Given the description of an element on the screen output the (x, y) to click on. 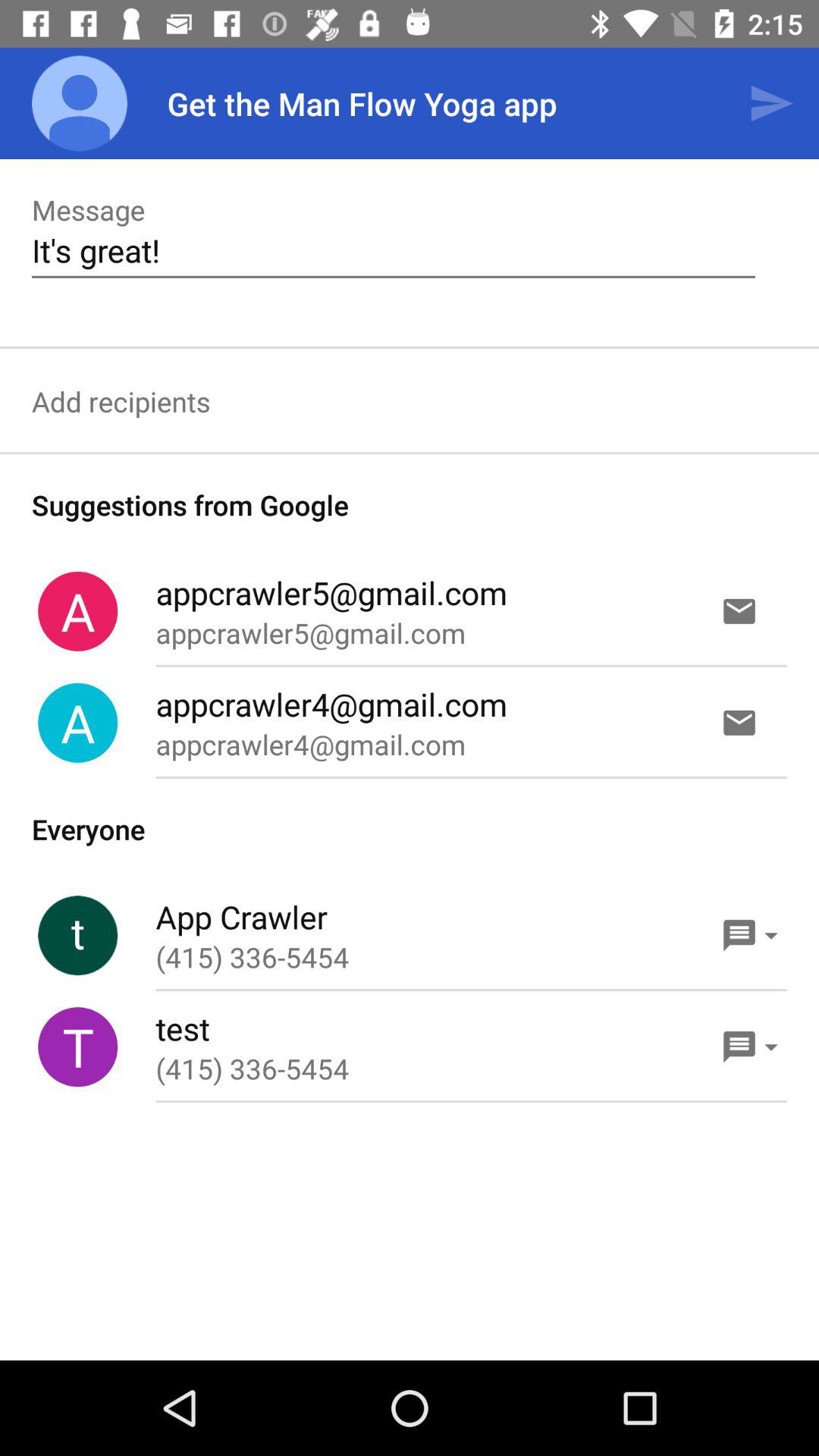
turn off app next to get the man (771, 103)
